Given the description of an element on the screen output the (x, y) to click on. 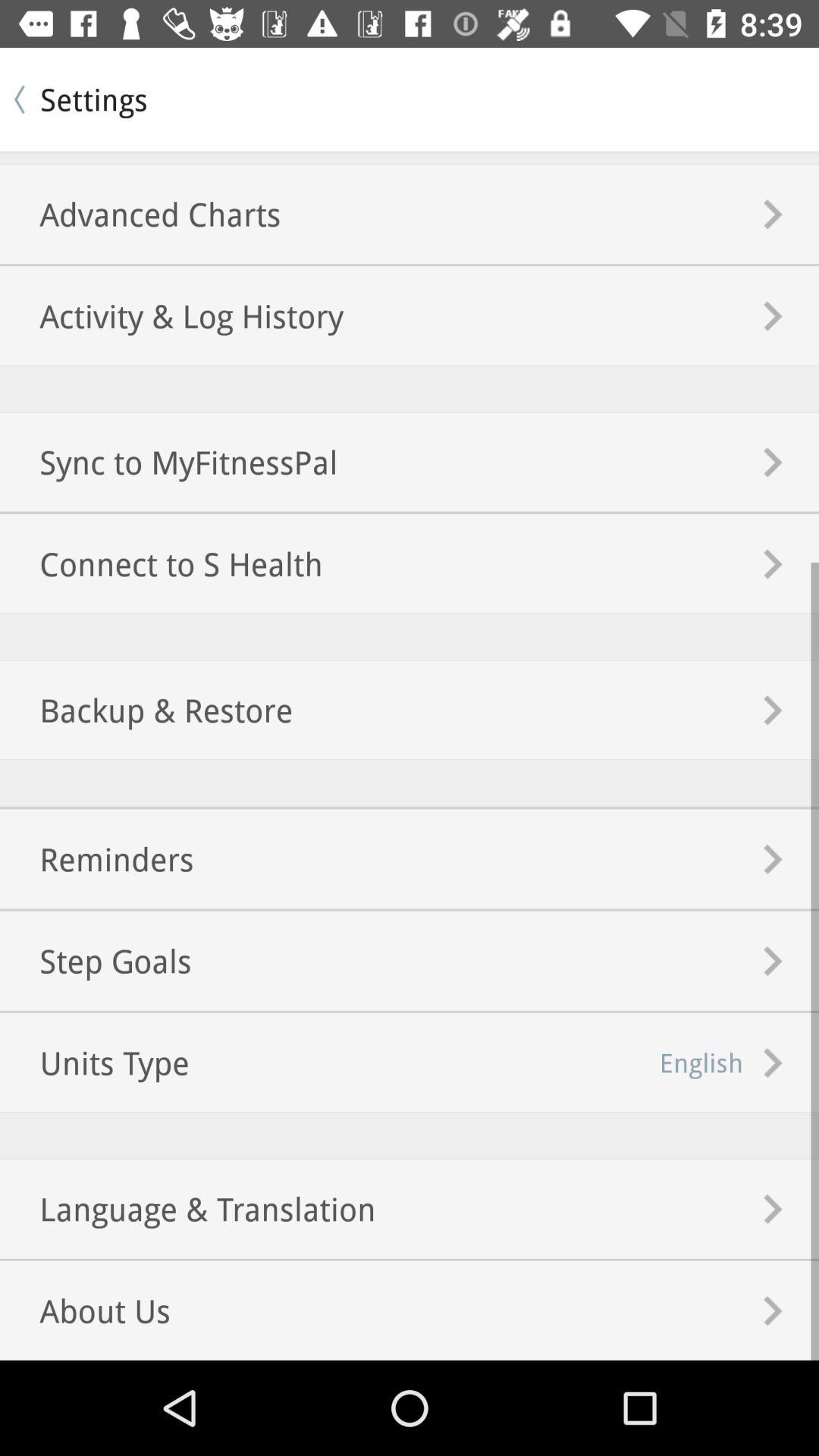
swipe to the step goals icon (95, 960)
